Given the description of an element on the screen output the (x, y) to click on. 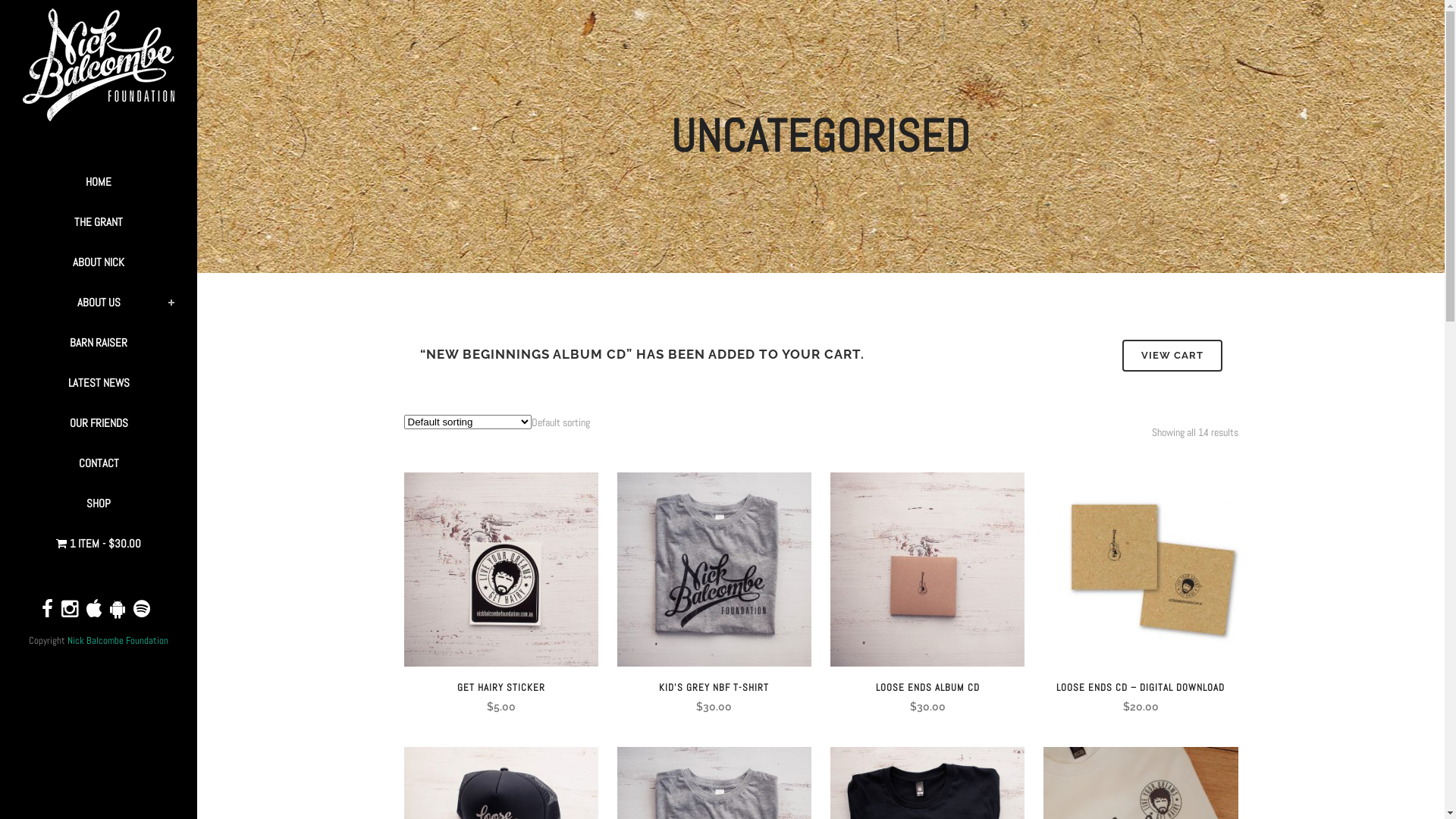
ABOUT NICK Element type: text (98, 261)
LATEST NEWS Element type: text (98, 382)
THE GRANT Element type: text (98, 221)
BARN RAISER Element type: text (98, 342)
GET HAIRY STICKER
$5.00 Element type: text (500, 691)
HOME Element type: text (98, 181)
1 ITEM$30.00 Element type: text (98, 543)
SHOP Element type: text (98, 503)
LOOSE ENDS ALBUM CD
$30.00 Element type: text (927, 691)
CONTACT Element type: text (98, 462)
ABOUT US Element type: text (98, 302)
VIEW CART Element type: text (1172, 355)
OUR FRIENDS Element type: text (98, 422)
